Given the description of an element on the screen output the (x, y) to click on. 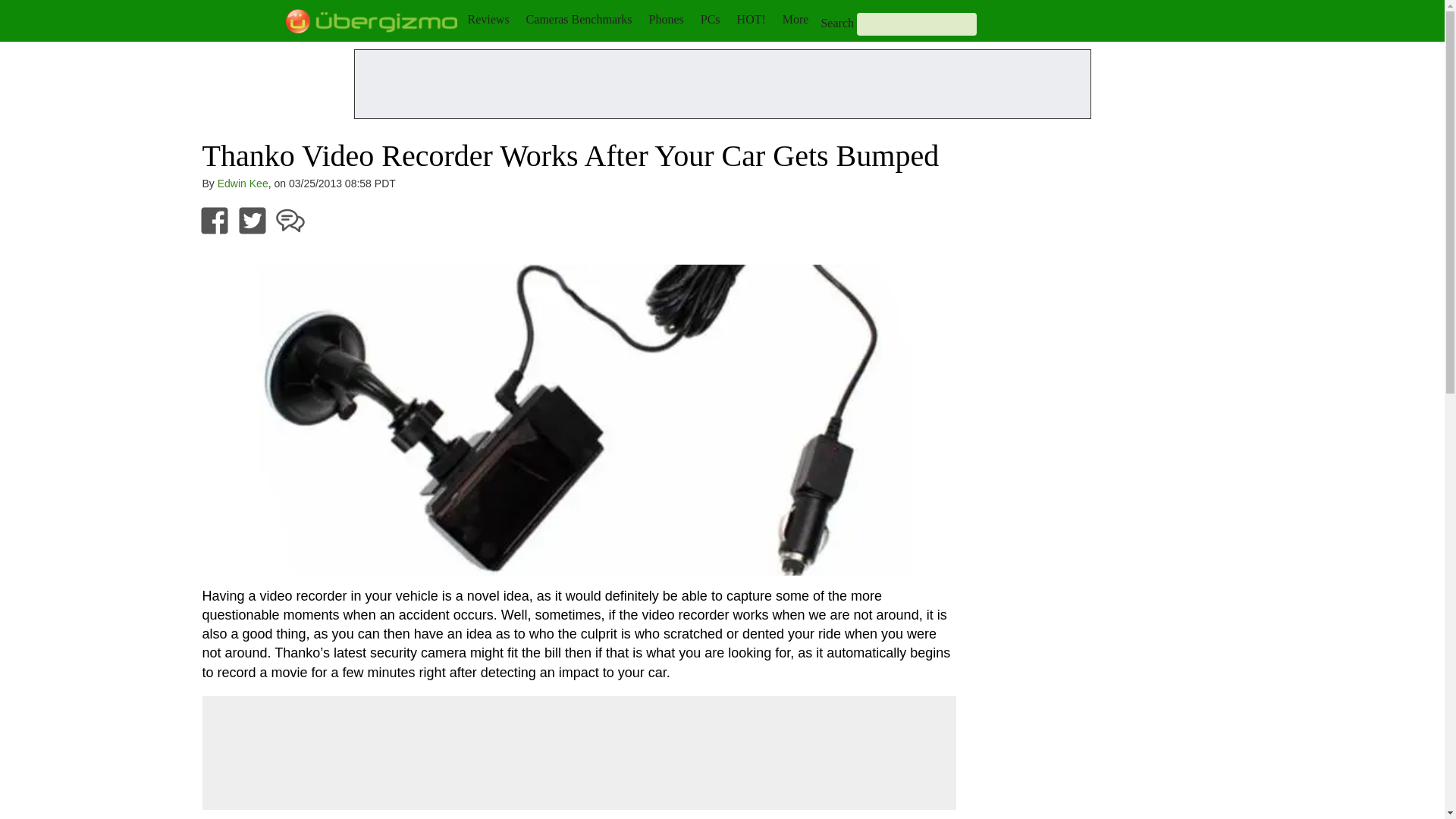
Phones (666, 19)
Reviews (487, 19)
PCs (710, 19)
Cameras Benchmarks (578, 19)
